Given the description of an element on the screen output the (x, y) to click on. 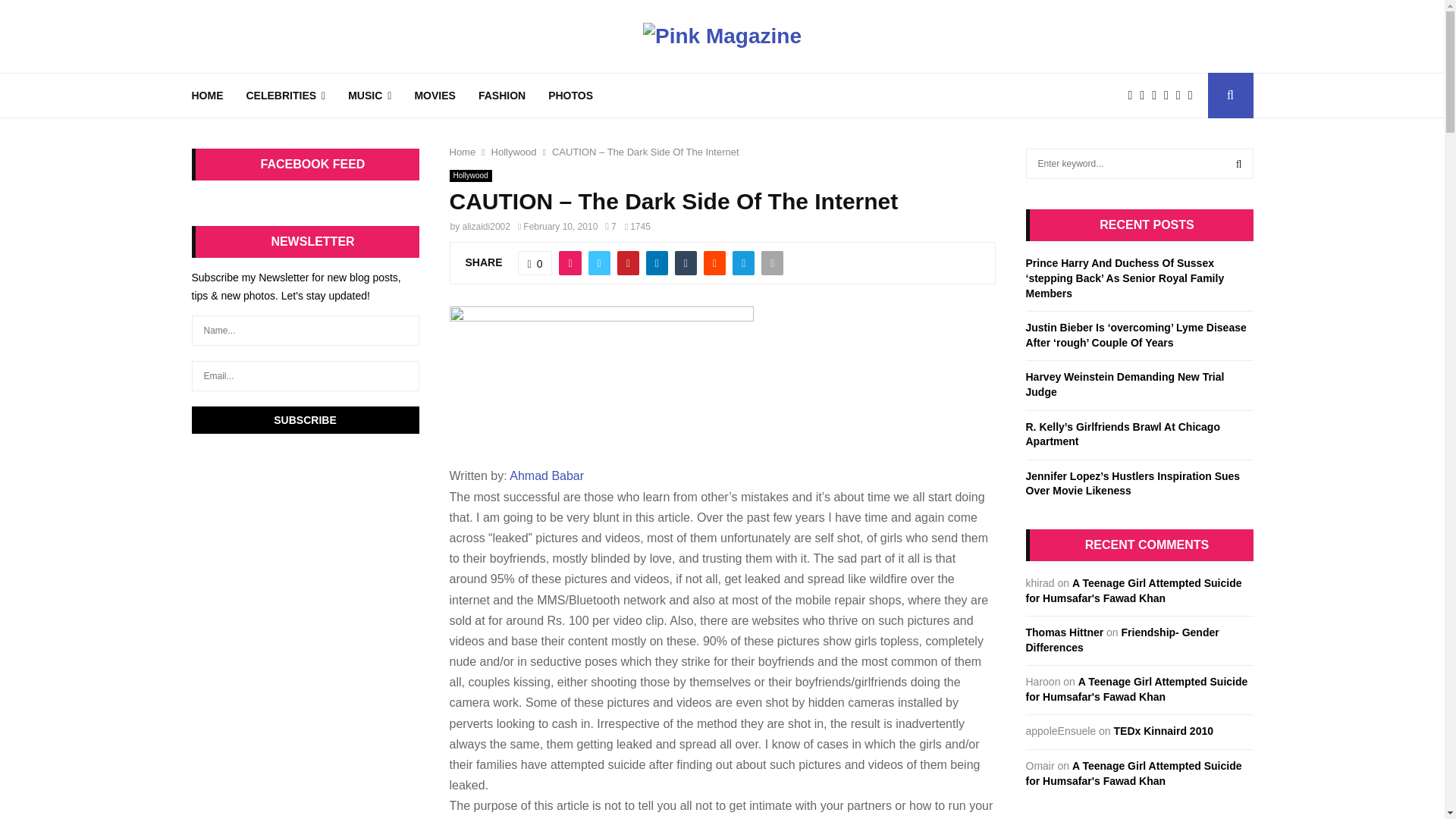
Subscribe (304, 420)
Ahmad Babar (546, 475)
CELEBRITIES (285, 94)
Instagram (1157, 95)
FASHION (502, 94)
Snapchat (1193, 95)
MOVIES (433, 94)
Facebook (1133, 95)
MUSIC (369, 94)
Home (462, 152)
Hollywood (470, 175)
Pinterest (1169, 95)
7 (610, 226)
Youtube (1182, 95)
HOME (206, 94)
